Given the description of an element on the screen output the (x, y) to click on. 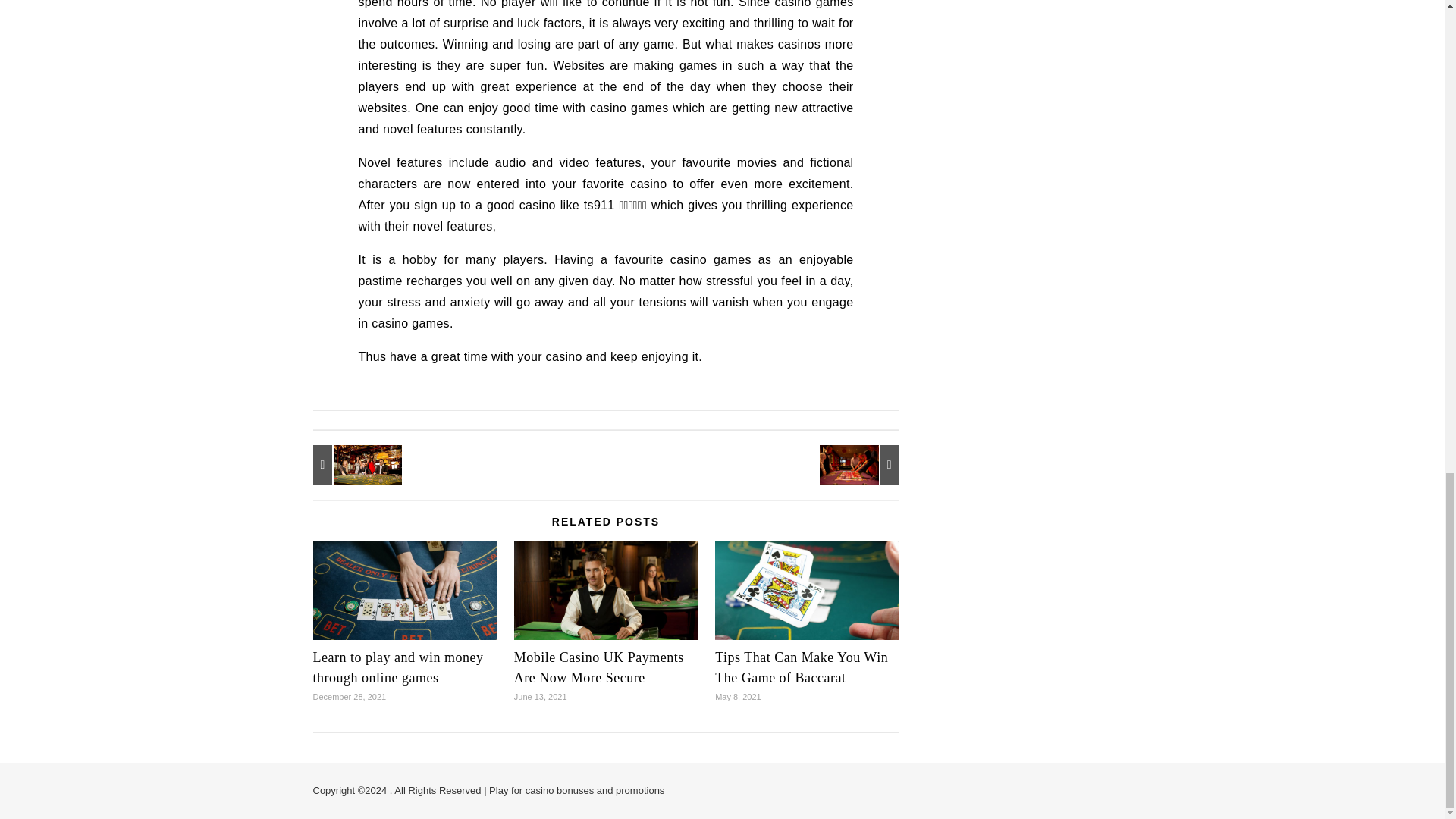
Learn to play and win money through online games (398, 667)
Mobile Casino UK Payments Are Now More Secure (598, 667)
Tips That Can Make You Win The Game of Baccarat (801, 667)
